Given the description of an element on the screen output the (x, y) to click on. 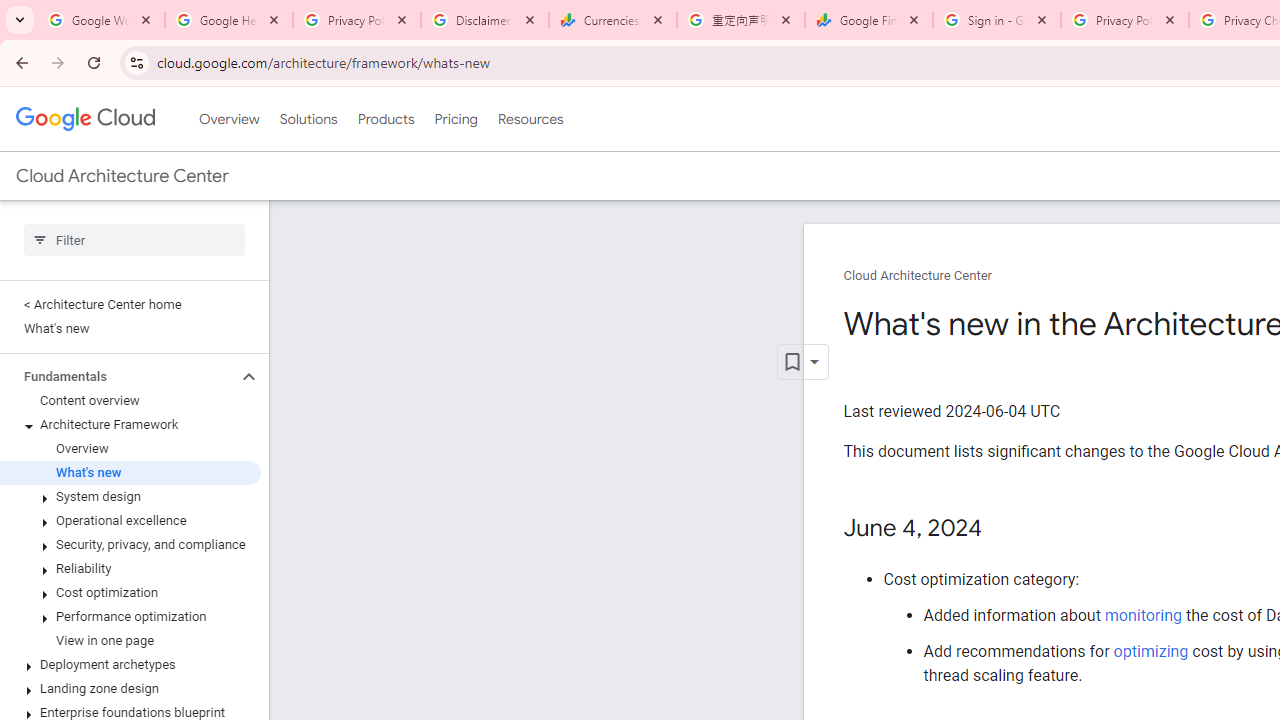
What's new (130, 472)
Type to filter (134, 239)
Landing zone design (130, 688)
monitoring (1142, 615)
Content overview (130, 400)
Cloud Architecture Center (917, 276)
Operational excellence (130, 520)
